Given the description of an element on the screen output the (x, y) to click on. 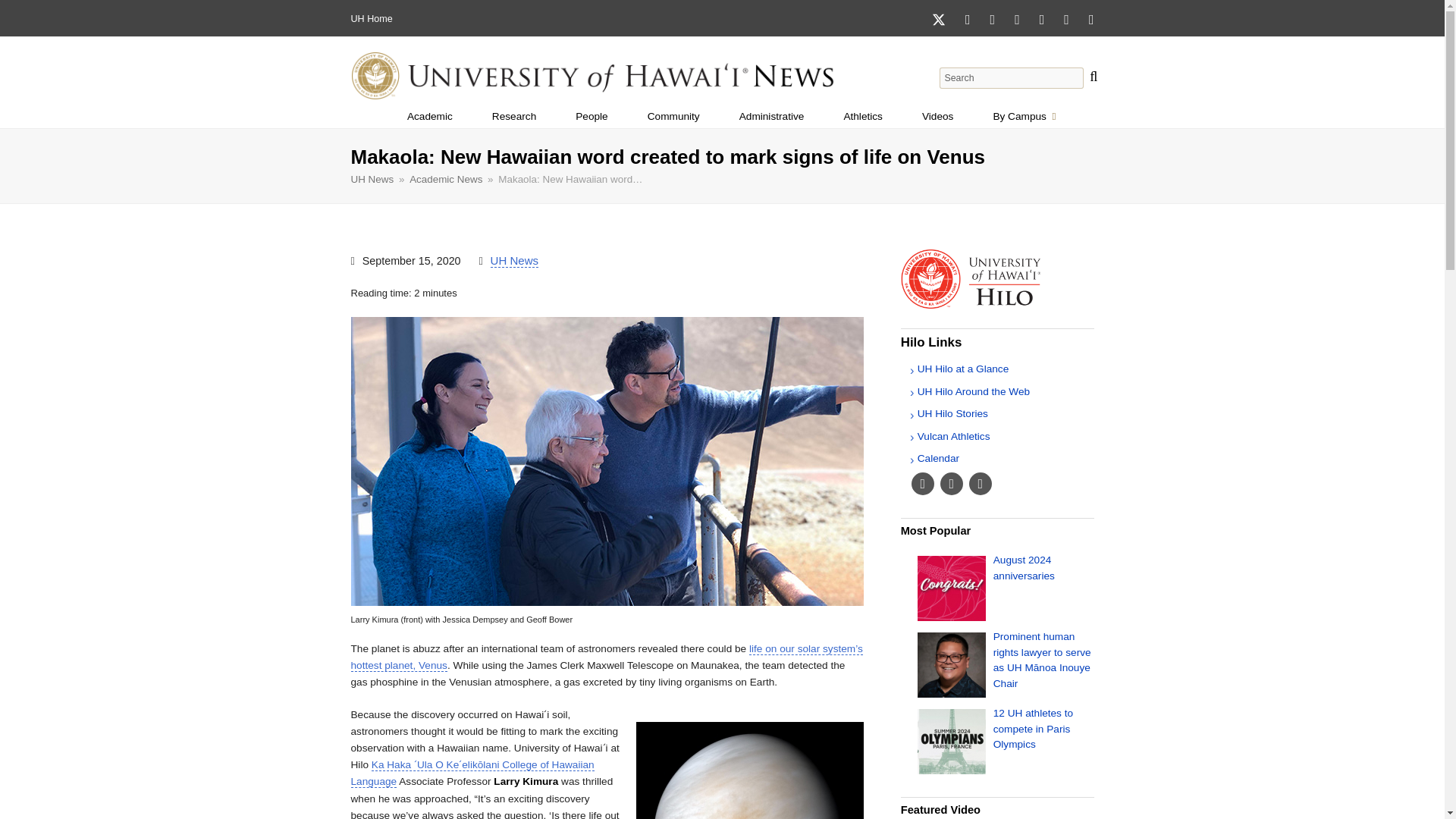
Videos (937, 116)
Community (673, 116)
Athletics (863, 116)
Go to UH Hilo (997, 305)
UH News (371, 179)
12 UH athletes to compete in Paris Olympics (1023, 116)
Academic News (1032, 728)
People (445, 179)
Academic (591, 116)
University of Hawaii (429, 116)
Posts by UH News (357, 18)
Administrative (514, 260)
UH News (771, 116)
UH Home (514, 260)
